Given the description of an element on the screen output the (x, y) to click on. 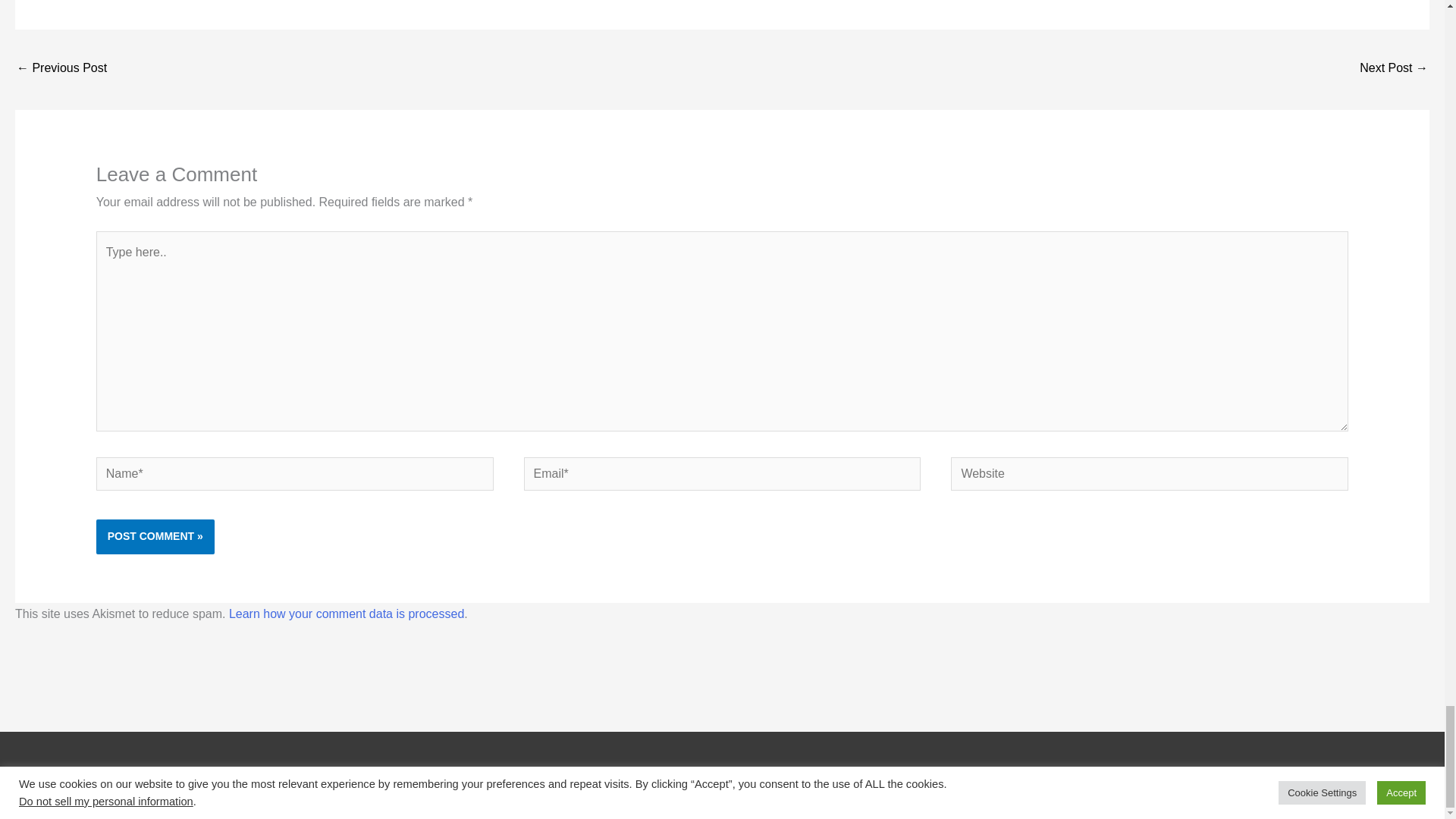
How I Track My Body Progress 2020-02 (61, 69)
Blog (335, 776)
3 Fast Fat Loss Facts (1393, 69)
Learn how your comment data is processed (346, 613)
Home (298, 776)
About (375, 776)
Contact (424, 776)
